Given the description of an element on the screen output the (x, y) to click on. 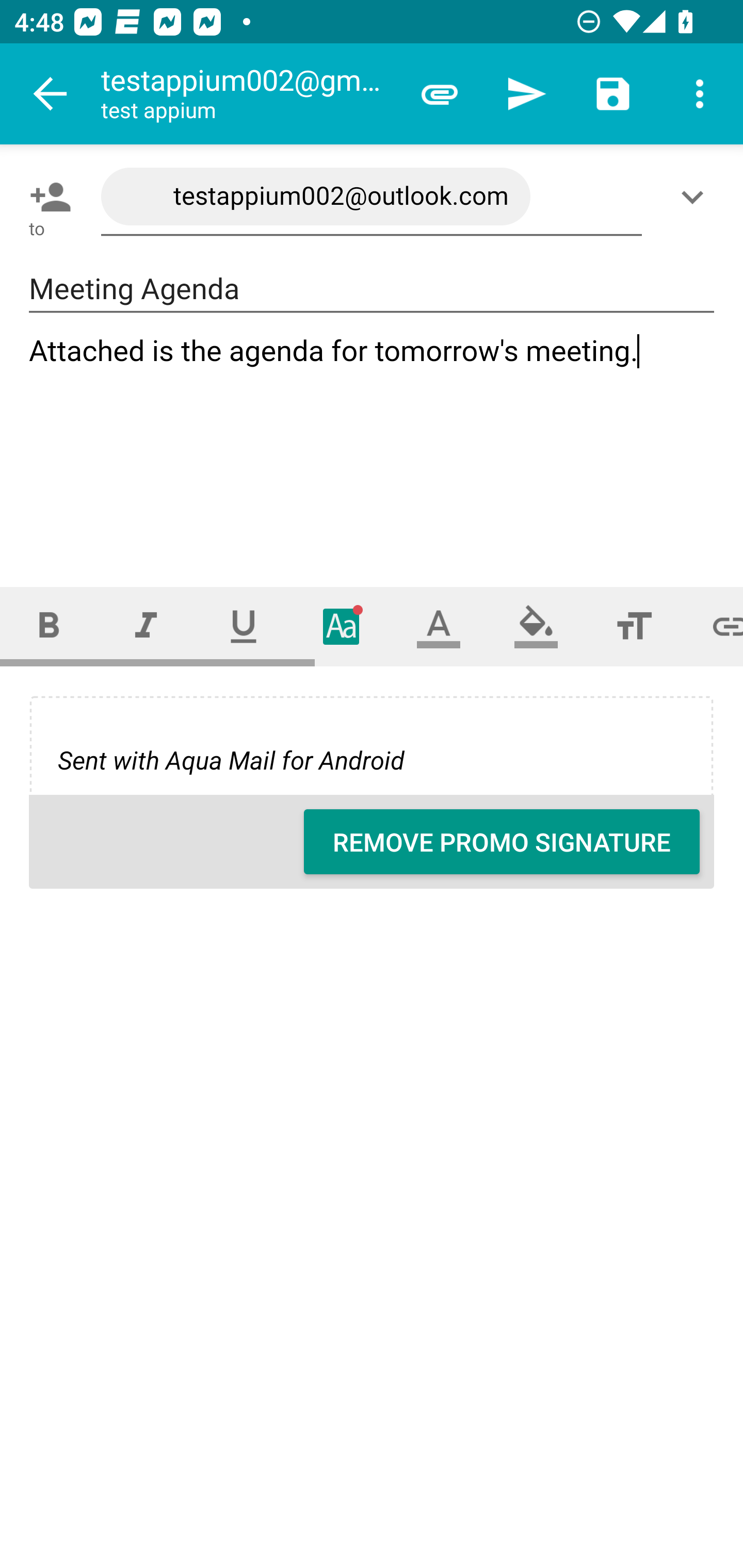
Navigate up (50, 93)
testappium002@gmail.com test appium (248, 93)
Attach (439, 93)
Send (525, 93)
Save (612, 93)
More options (699, 93)
testappium002@outlook.com,  (371, 197)
Pick contact: To (46, 196)
Show/Add CC/BCC (696, 196)
Meeting Agenda (371, 288)
Attached is the agenda for tomorrow's meeting. (372, 442)
Bold (48, 626)
Italic (145, 626)
Underline (243, 626)
Typeface (font) (341, 626)
Text color (438, 626)
Fill color (536, 626)
Font size (633, 626)
Set link (712, 626)
REMOVE PROMO SIGNATURE (501, 841)
